Given the description of an element on the screen output the (x, y) to click on. 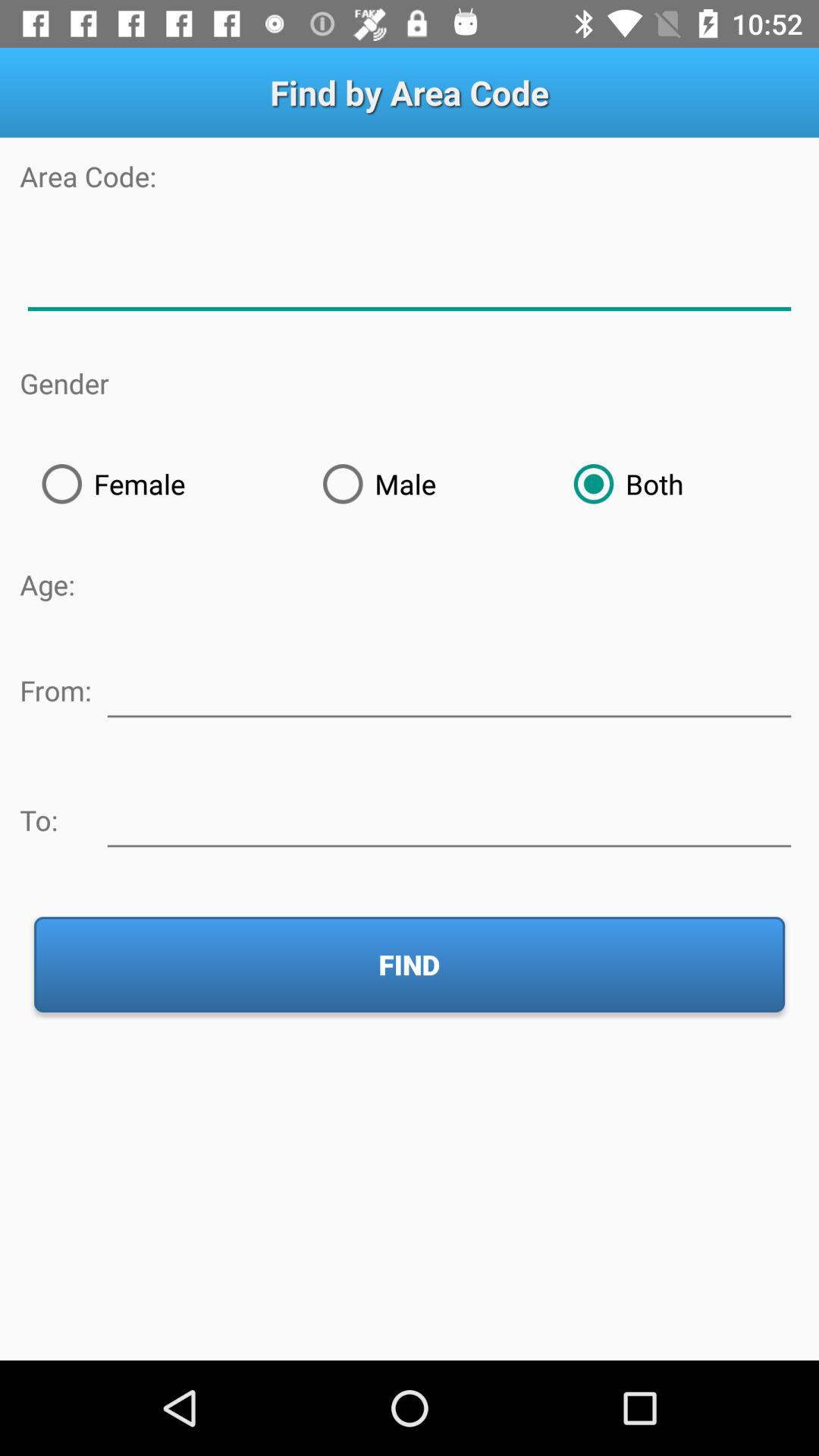
turn on radio button next to male (160, 483)
